Given the description of an element on the screen output the (x, y) to click on. 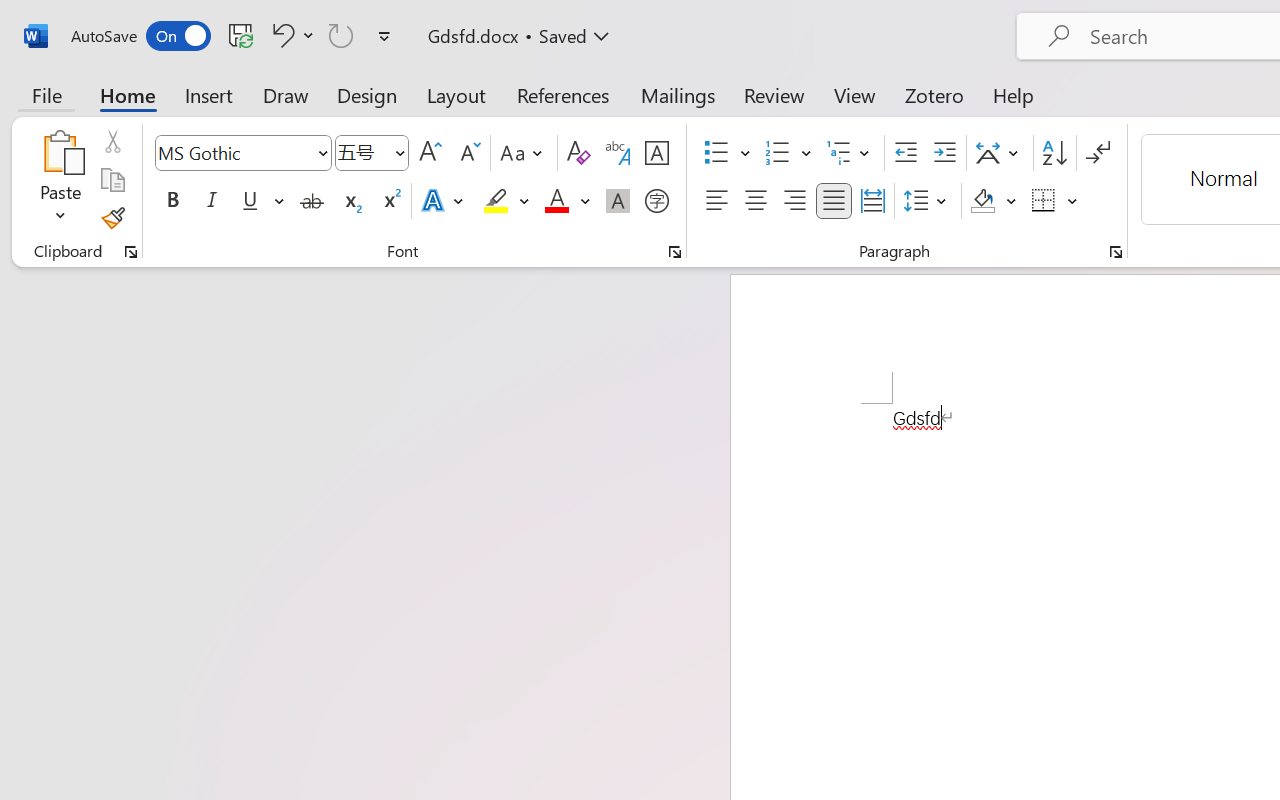
Undo Font Formatting (280, 35)
Shading RGB(0, 0, 0) (982, 201)
Enclose Characters... (656, 201)
Show/Hide Editing Marks (1098, 153)
